Given the description of an element on the screen output the (x, y) to click on. 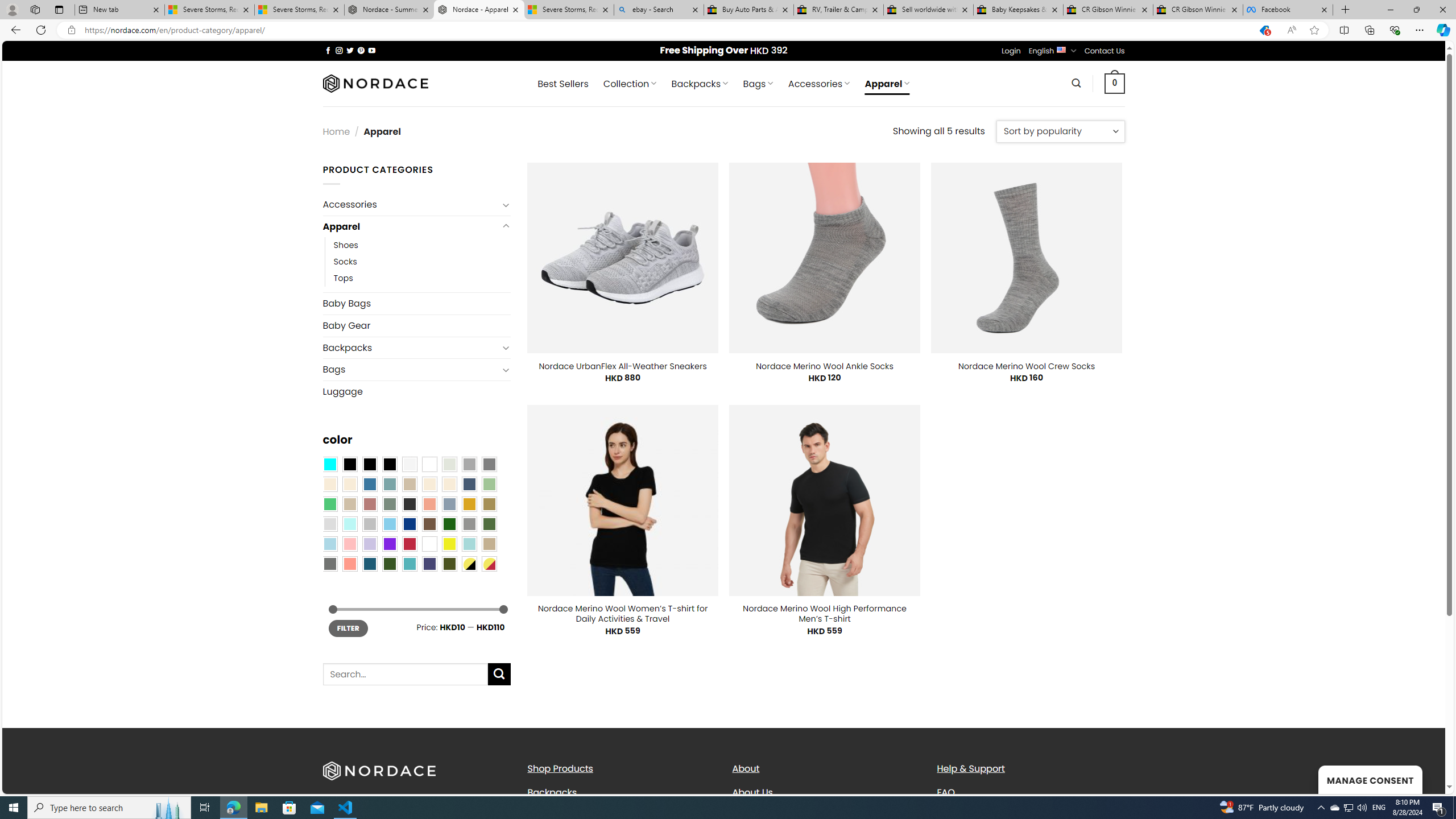
Brownie (408, 483)
Kelp (488, 503)
Light Purple (369, 543)
ebay - Search (658, 9)
Submit (499, 674)
Tops (343, 278)
Beige (329, 483)
Forest (389, 563)
Dull Nickle (329, 563)
Silver (369, 523)
Army Green (449, 563)
